Given the description of an element on the screen output the (x, y) to click on. 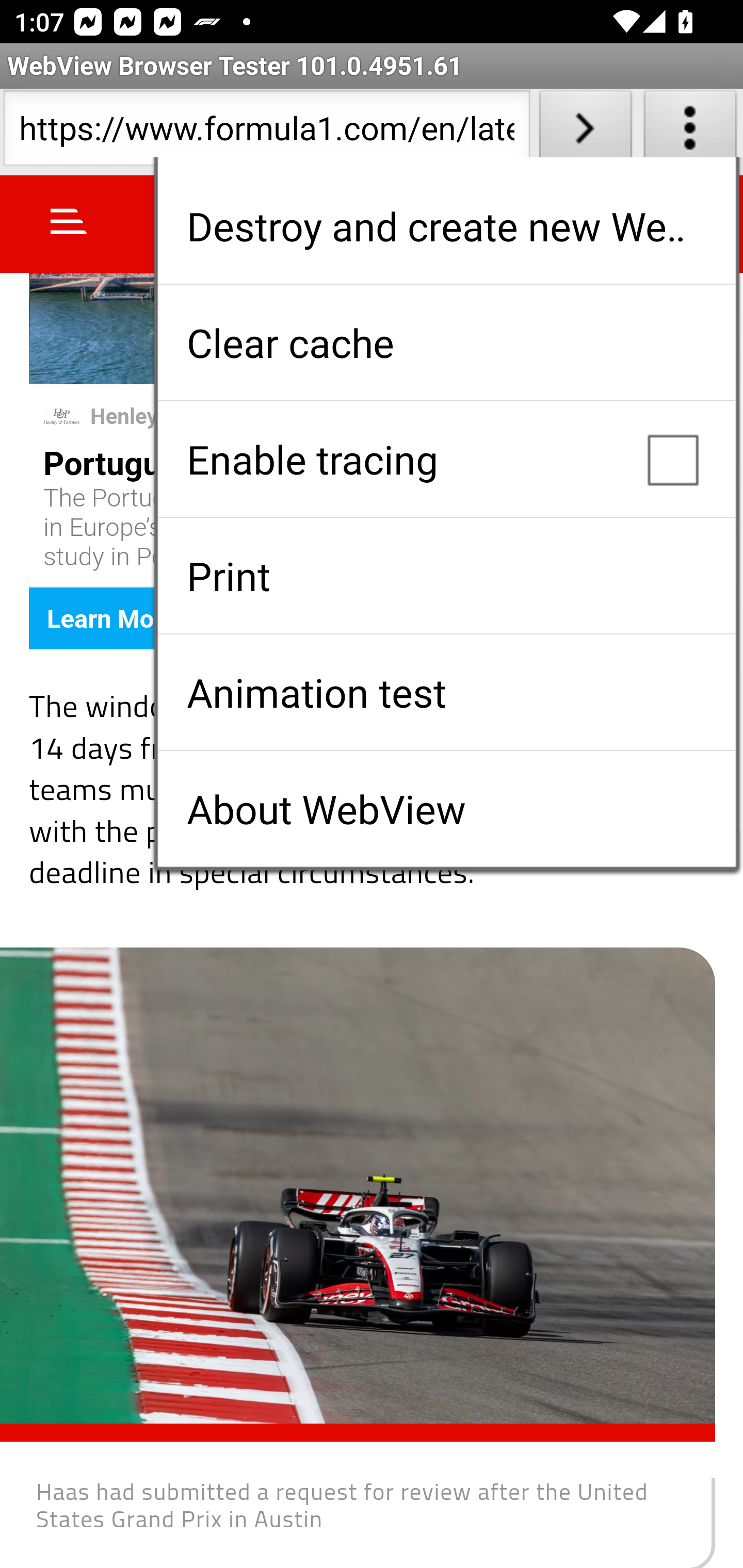
Destroy and create new WebView (446, 225)
Clear cache (446, 342)
Enable tracing (446, 459)
Print (446, 575)
Animation test (446, 692)
About WebView (446, 809)
